Given the description of an element on the screen output the (x, y) to click on. 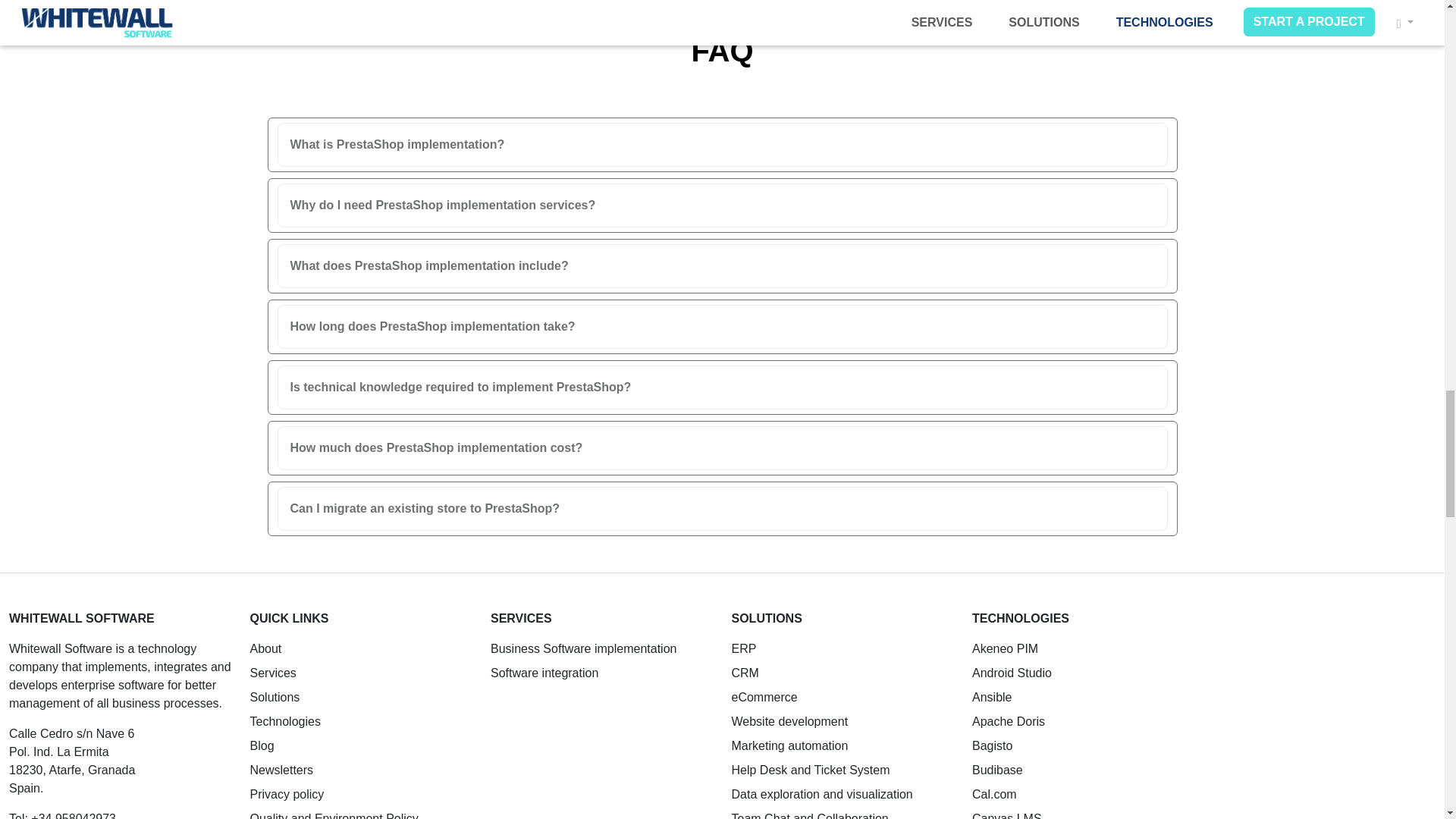
What does PrestaShop implementation include? (721, 266)
How much does PrestaShop implementation cost? (721, 447)
CRM (744, 672)
Technologies (285, 721)
Newsletters (282, 769)
Privacy policy (287, 793)
Services (273, 672)
How long does PrestaShop implementation take? (721, 326)
Can I migrate an existing store to PrestaShop? (721, 508)
Quality and Environment Policy (334, 815)
